Given the description of an element on the screen output the (x, y) to click on. 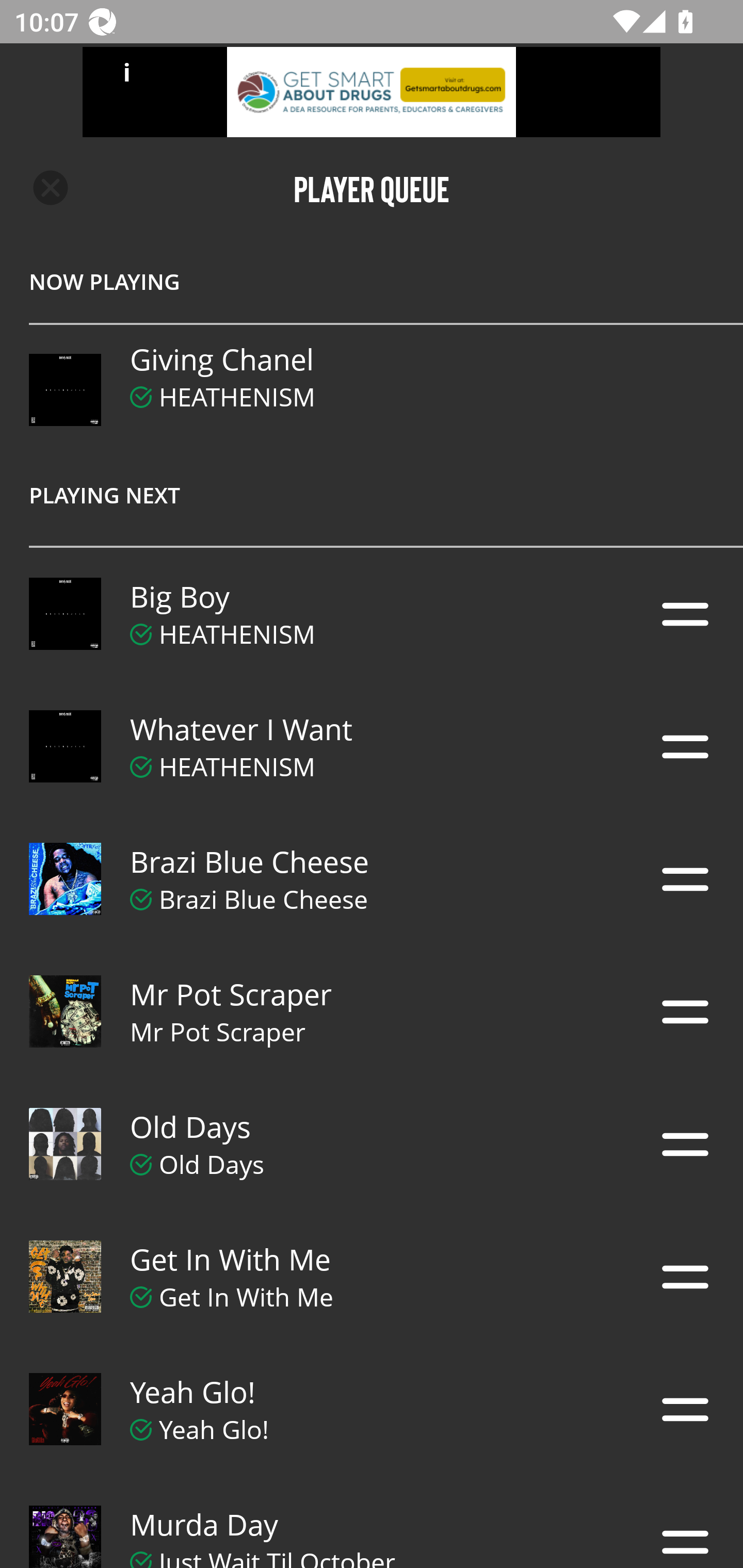
Navigate up (50, 187)
